Given the description of an element on the screen output the (x, y) to click on. 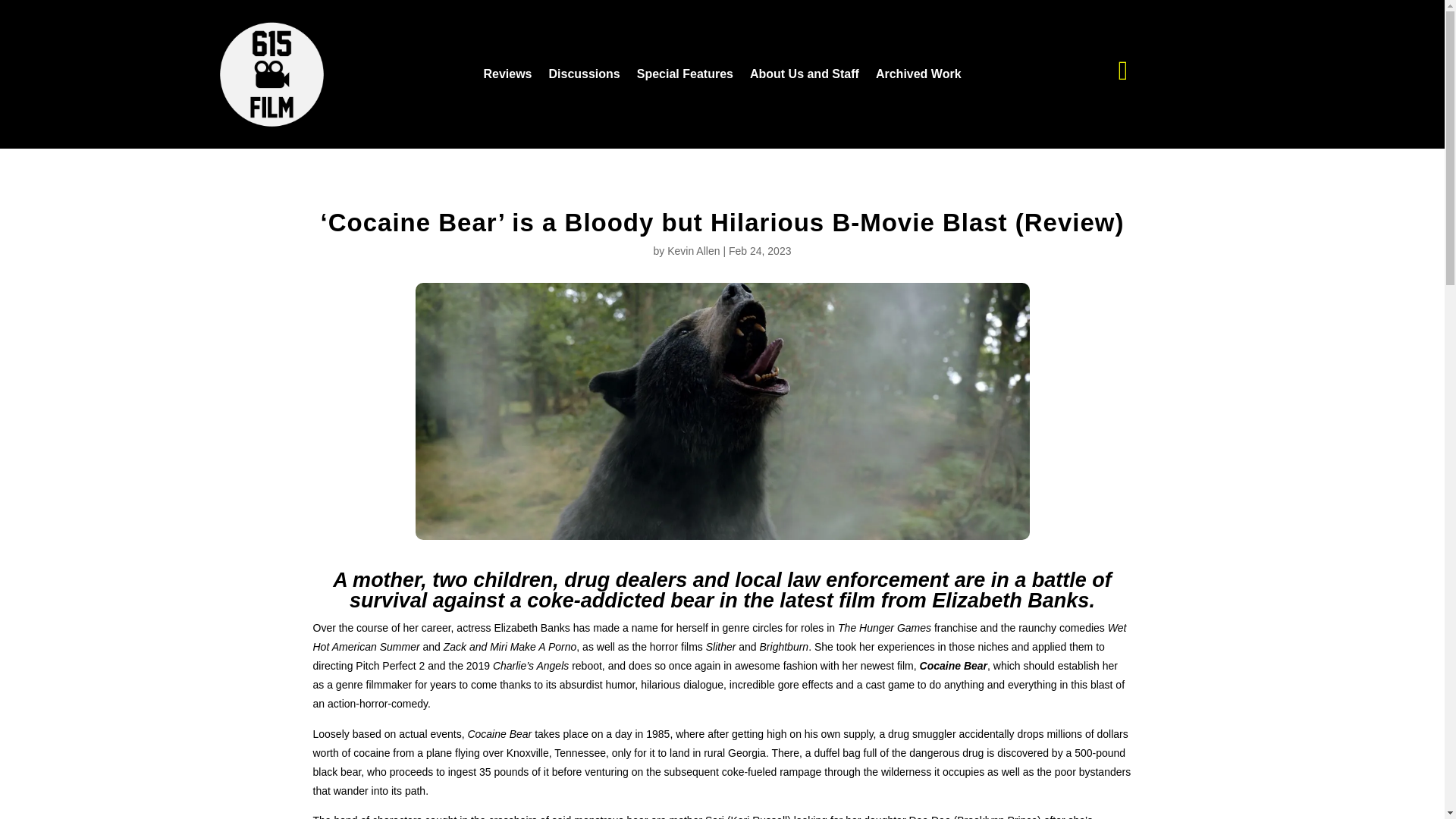
About Us and Staff (804, 76)
Kevin Allen (692, 250)
Posts by Kevin Allen (692, 250)
Special Features (685, 76)
Follow on Twitter (1123, 71)
Archived Work (918, 76)
Discussions (584, 76)
615-film-logo-with-fill (270, 74)
Reviews (507, 76)
